Given the description of an element on the screen output the (x, y) to click on. 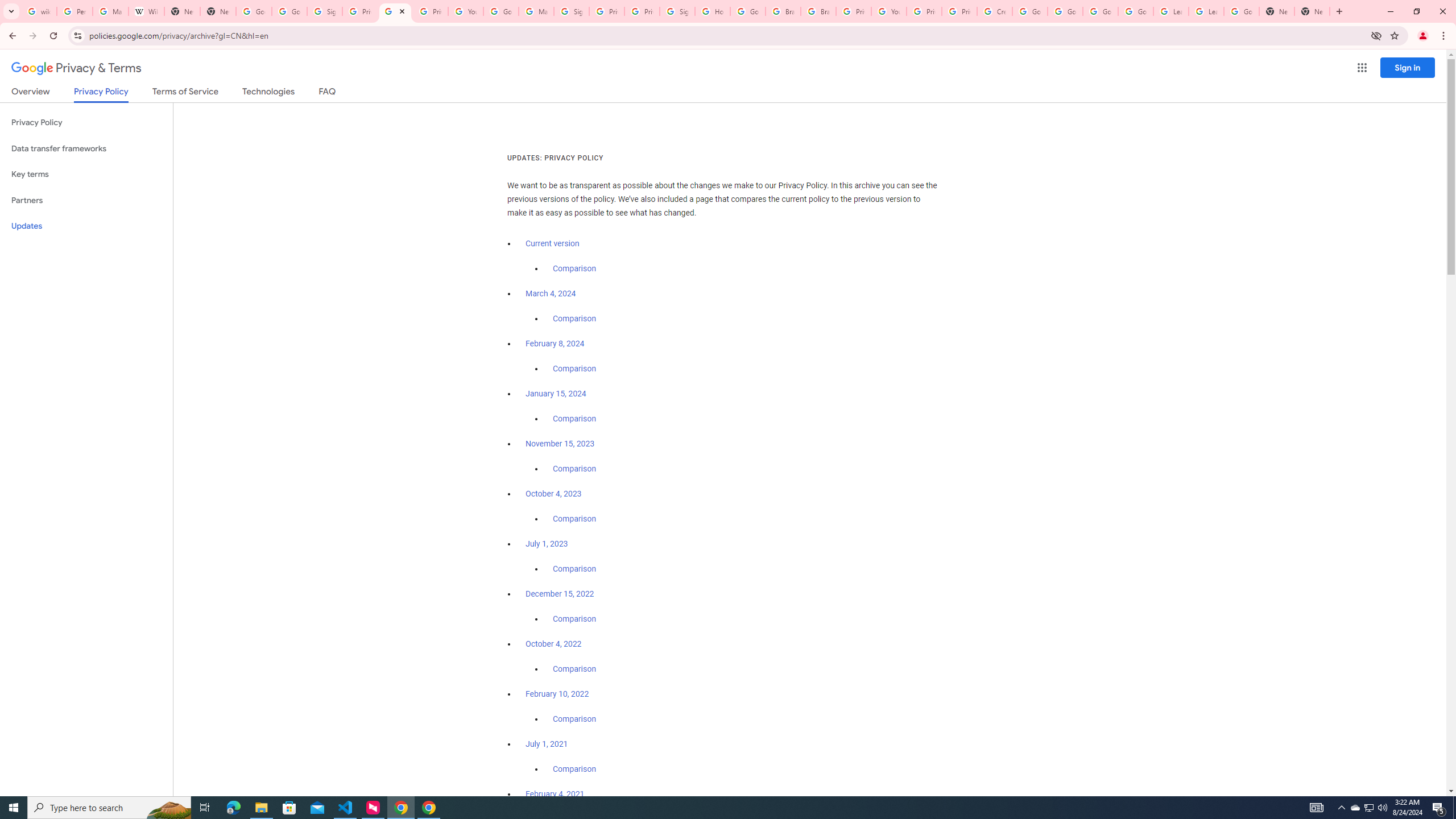
Sign in - Google Accounts (324, 11)
January 15, 2024 (555, 394)
July 1, 2021 (546, 743)
Current version (552, 243)
November 15, 2023 (560, 443)
